Given the description of an element on the screen output the (x, y) to click on. 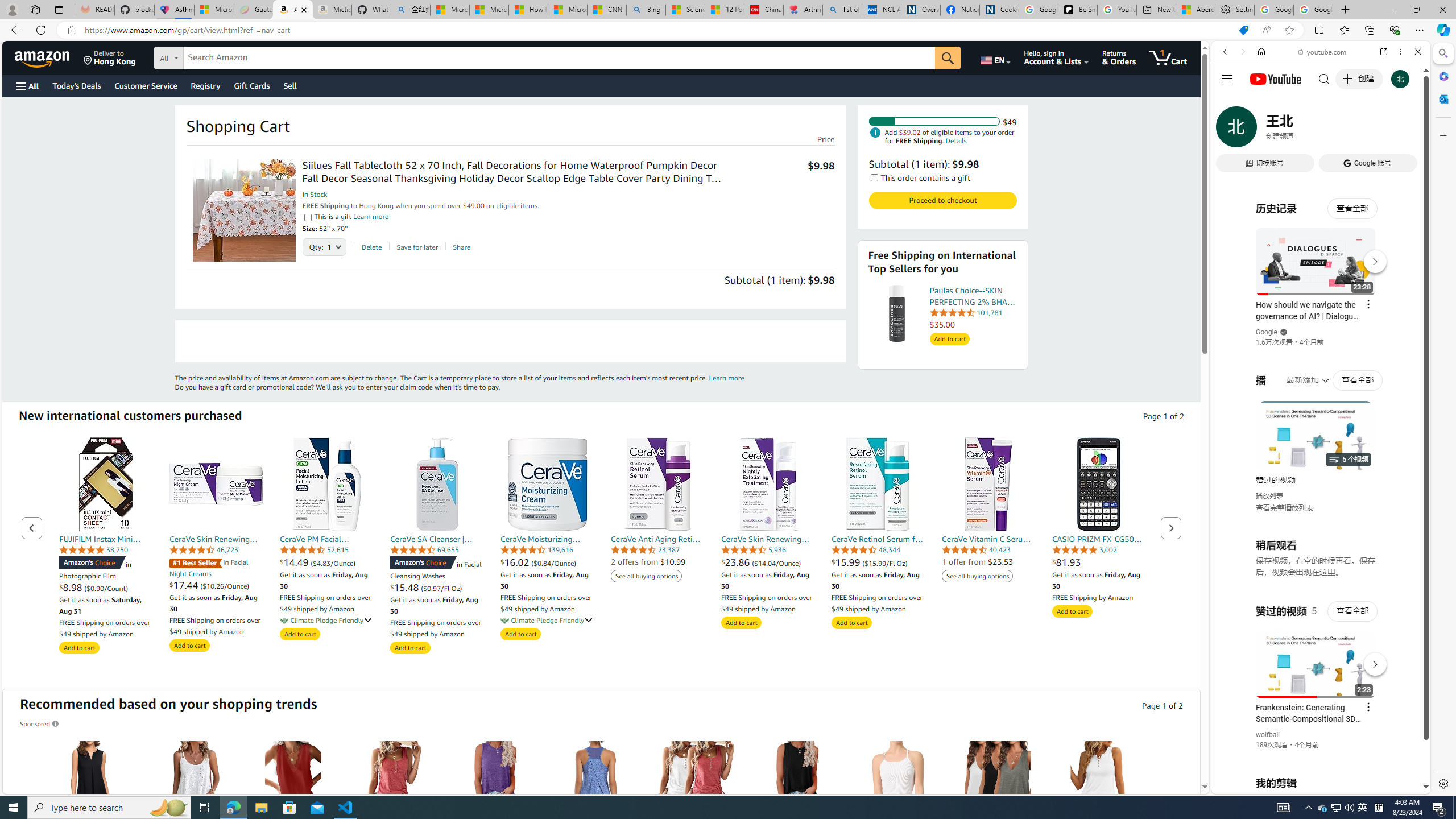
$81.93 (1098, 562)
Search Amazon (559, 57)
($10.26/Ounce) (224, 585)
$15.99  (847, 562)
